Given the description of an element on the screen output the (x, y) to click on. 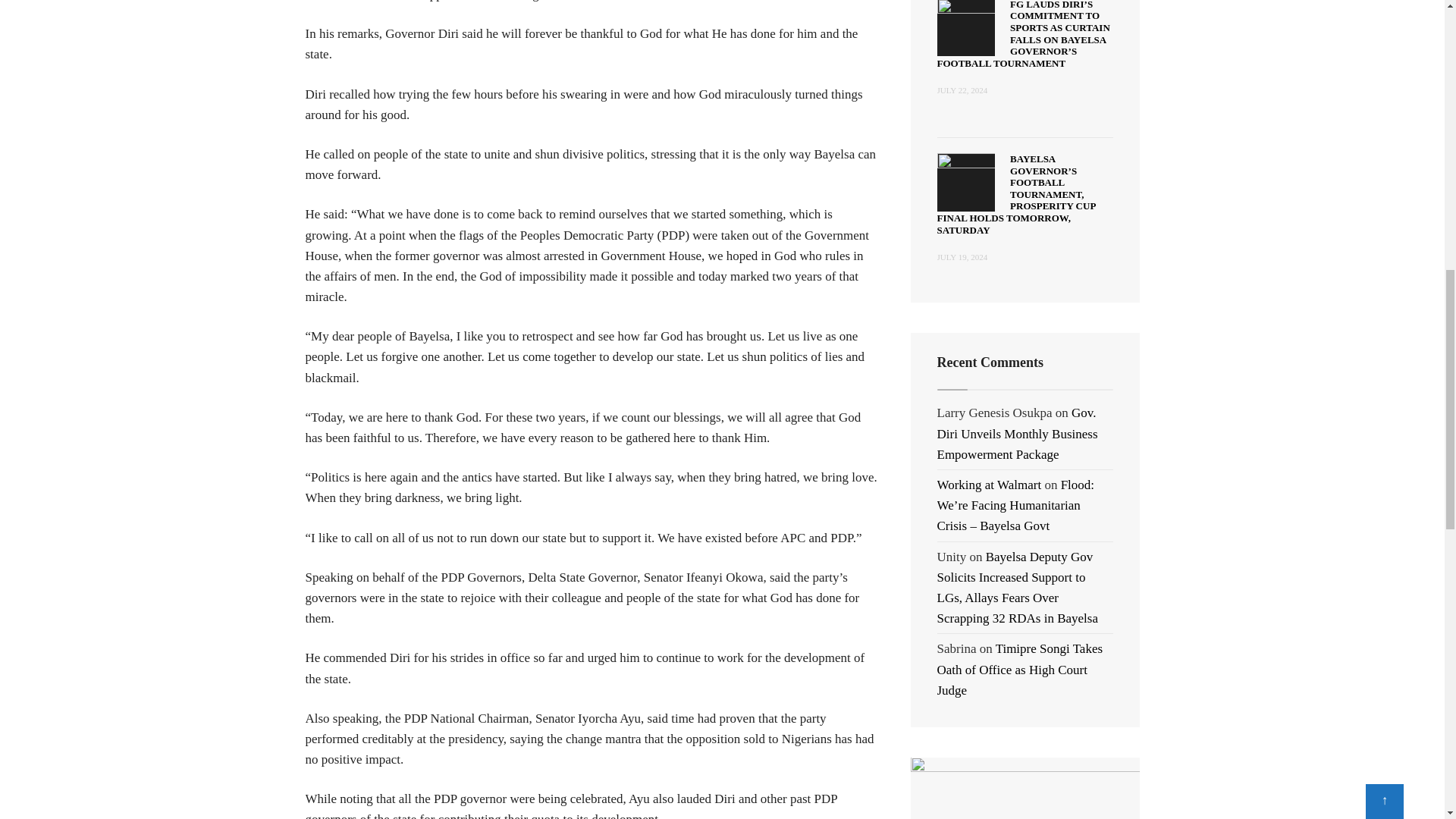
Scroll to top (1384, 1)
